Given the description of an element on the screen output the (x, y) to click on. 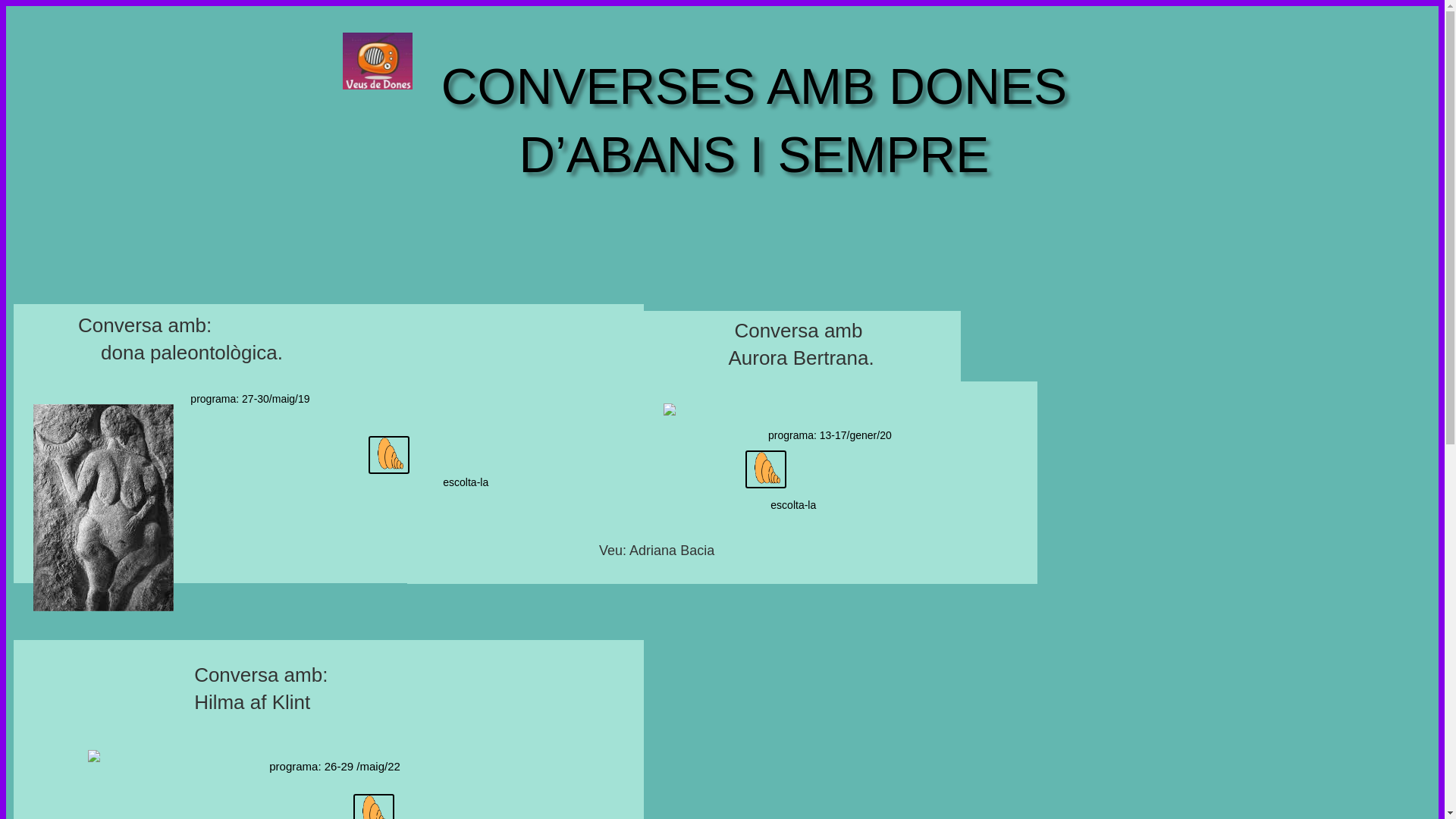
c Element type: text (765, 469)
c Element type: text (388, 454)
